Given the description of an element on the screen output the (x, y) to click on. 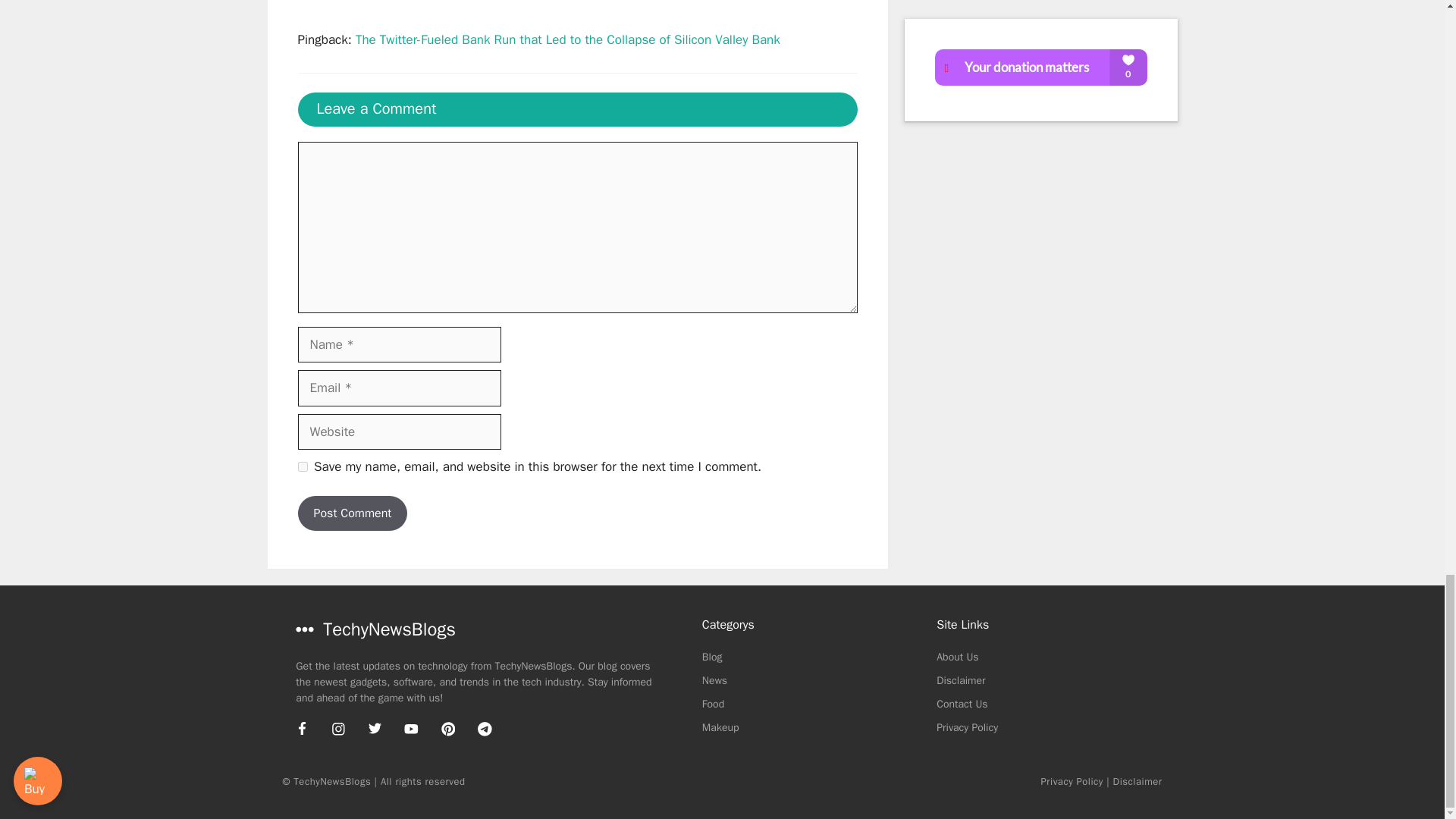
yes (302, 466)
Post Comment (352, 513)
Post Comment (352, 513)
